Given the description of an element on the screen output the (x, y) to click on. 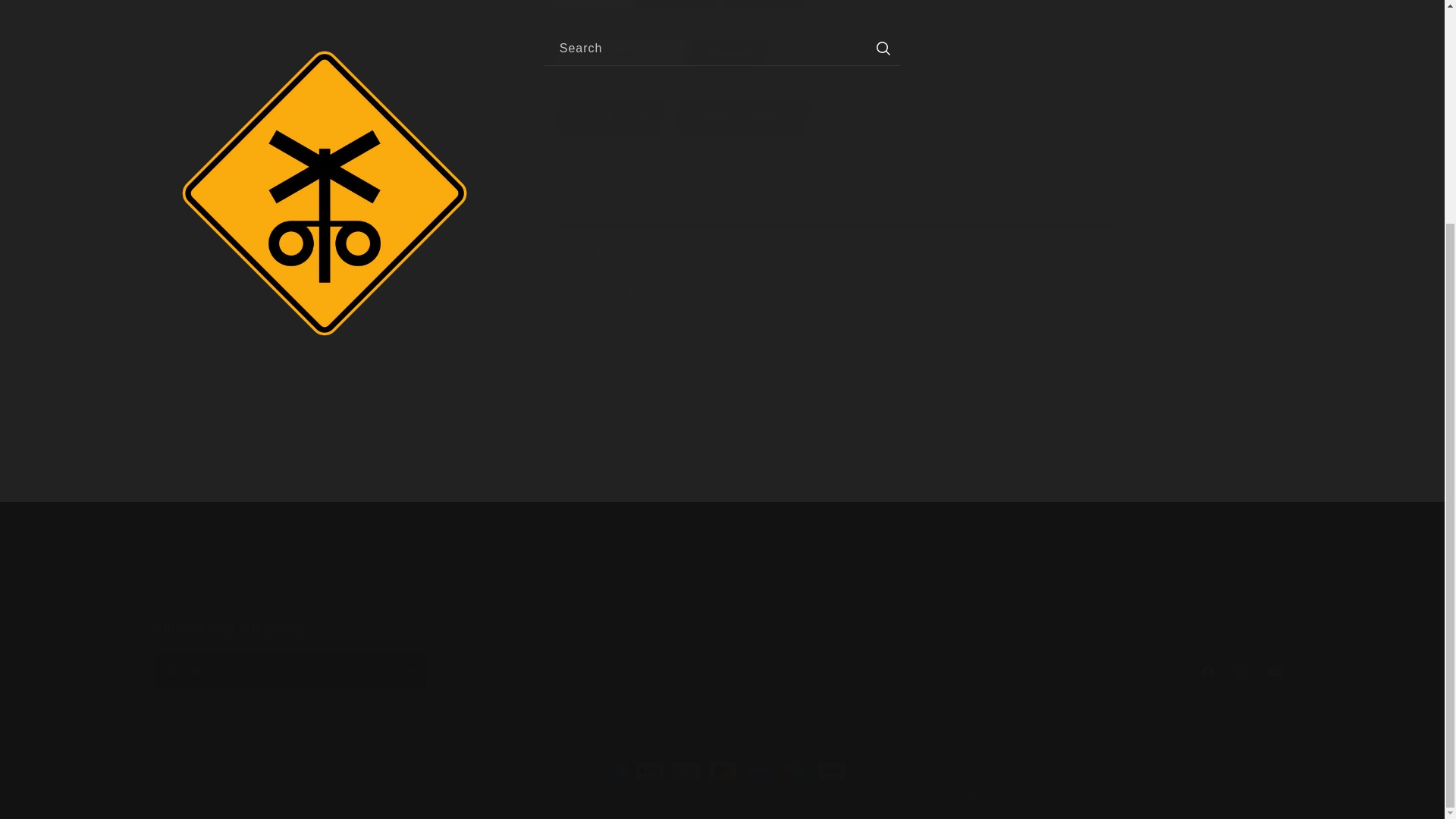
Open media 1 in modal (721, 653)
1 (323, 76)
